Given the description of an element on the screen output the (x, y) to click on. 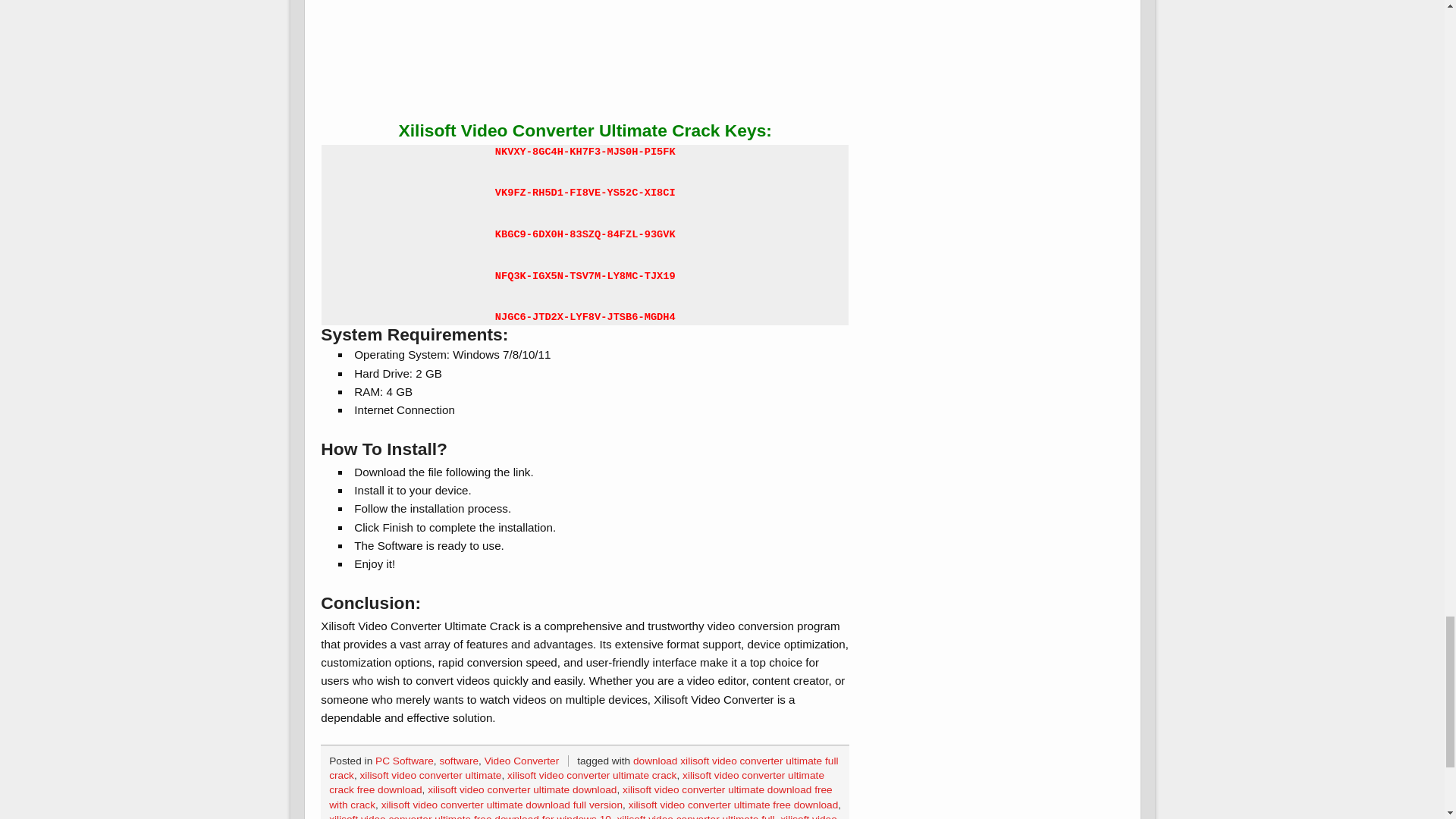
xilisoft video converter ultimate crack free download (576, 782)
software (459, 760)
download xilisoft video converter ultimate full crack (583, 768)
PC Software (404, 760)
xilisoft video converter ultimate download free with crack (580, 796)
xilisoft video converter ultimate free download (733, 804)
Video Converter (521, 760)
xilisoft video converter ultimate download full version (502, 804)
xilisoft video converter ultimate download (521, 789)
xilisoft video converter ultimate full (694, 816)
xilisoft video converter ultimate (430, 775)
xilisoft video converter ultimate crack (591, 775)
